Given the description of an element on the screen output the (x, y) to click on. 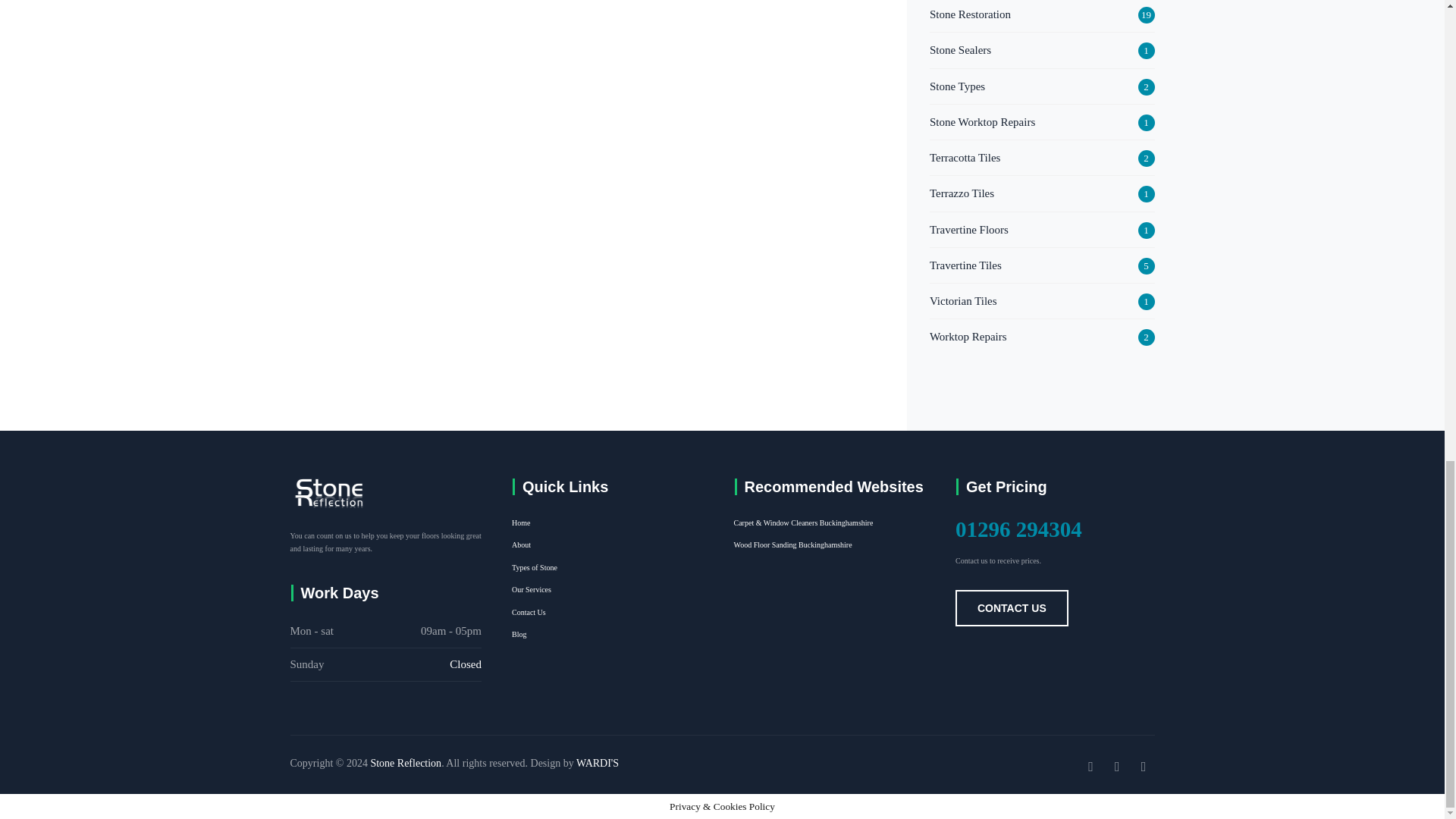
Stone Types (957, 85)
Stone Restoration (970, 14)
carpet cleaning, window cleaning buckinghamshire (803, 522)
Stone Sealers (960, 49)
Stone Worktop Repairs (982, 121)
floor sanding Buckinghamshire, wood floor cleaning Amersham (792, 544)
